Given the description of an element on the screen output the (x, y) to click on. 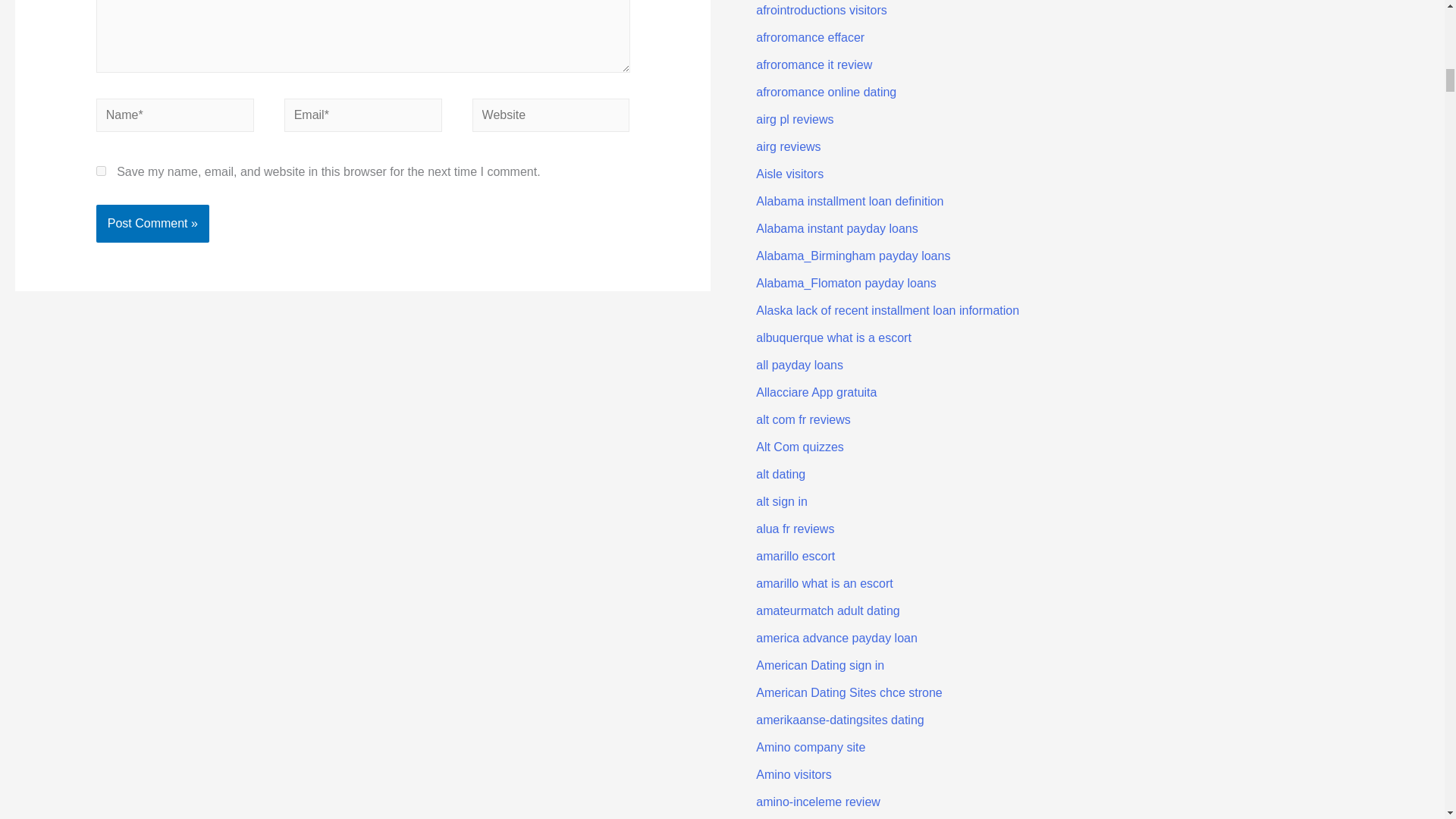
yes (101, 171)
